Given the description of an element on the screen output the (x, y) to click on. 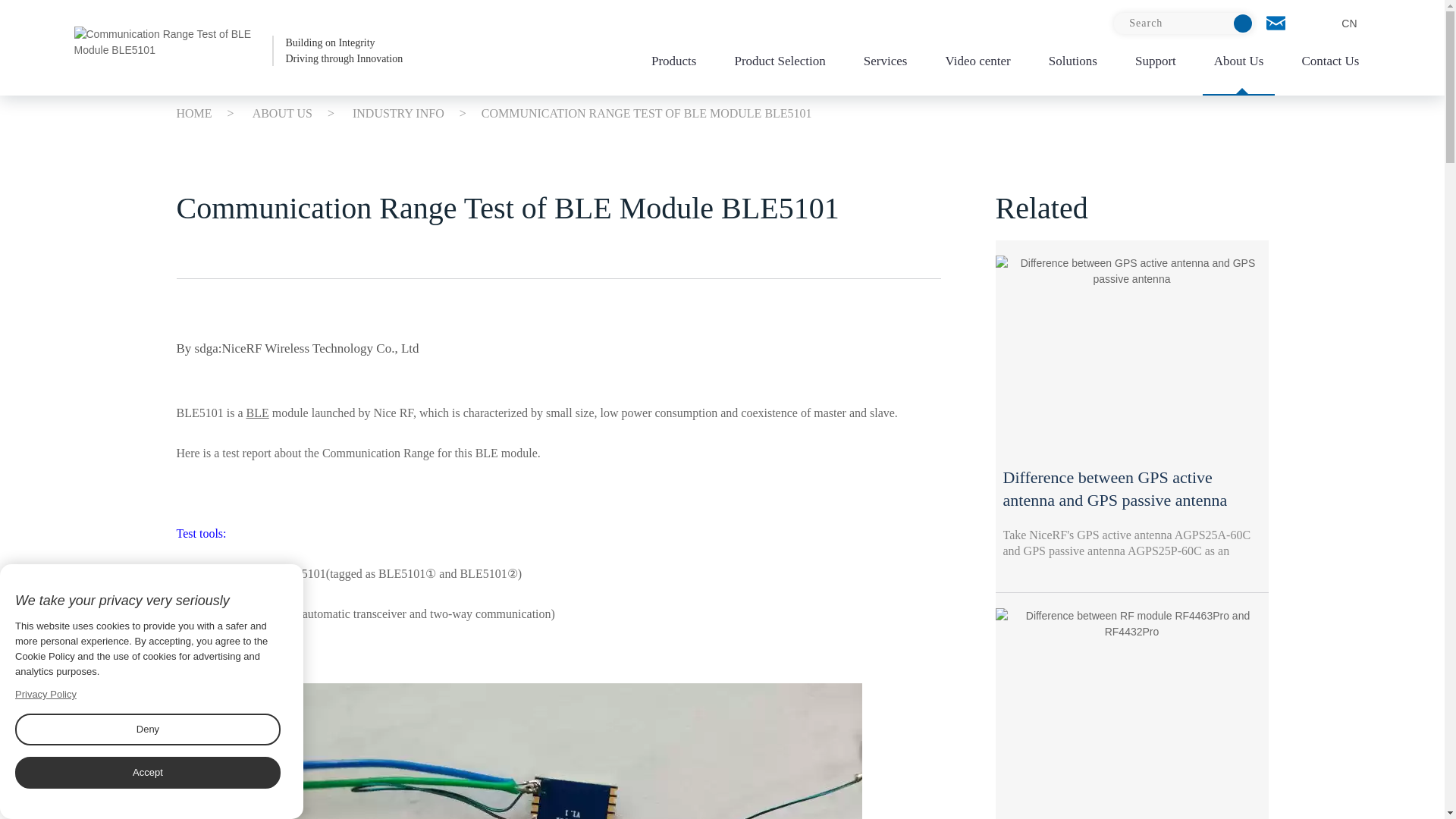
Products (673, 64)
Products (673, 64)
Communication Range Test of BLE Module BLE5101 (238, 50)
CN (238, 50)
Search (1333, 23)
Communication Range Test of BLE Module BLE5101 (1183, 23)
